Given the description of an element on the screen output the (x, y) to click on. 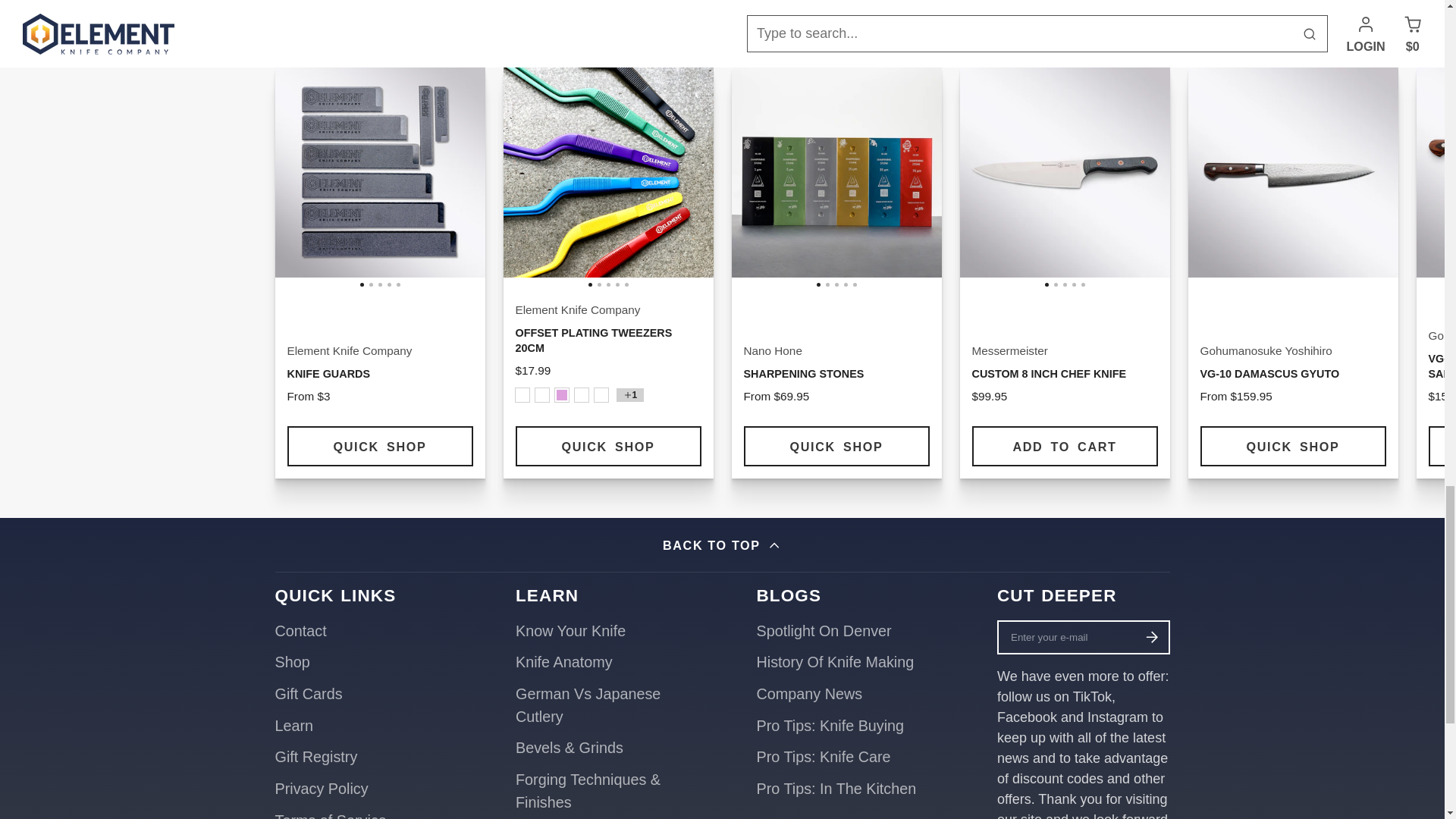
BACK TO TOP (722, 544)
